Given the description of an element on the screen output the (x, y) to click on. 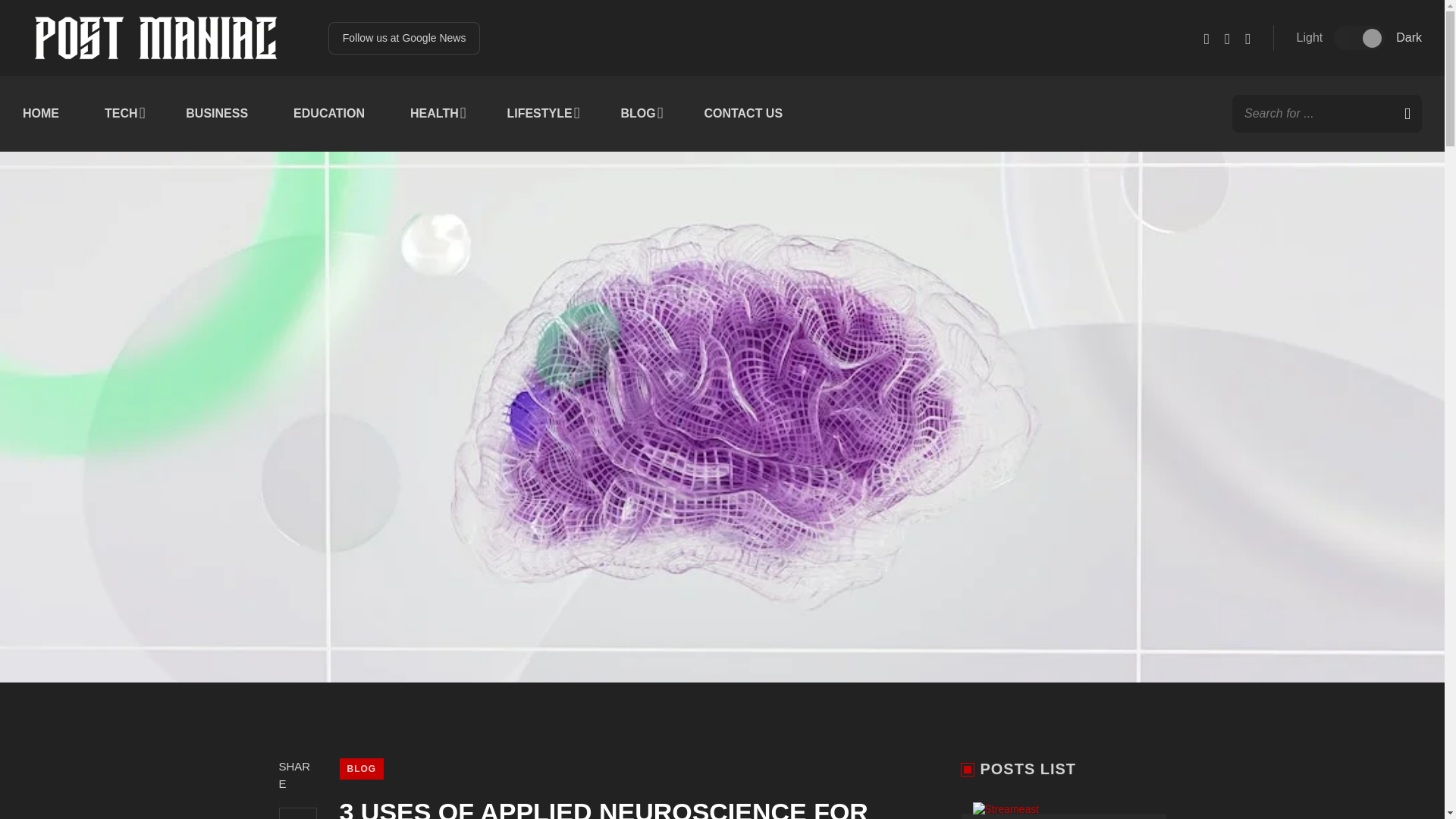
BLOG (361, 768)
EDUCATION (329, 113)
CONTACT US (743, 113)
LIFESTYLE (540, 113)
Follow us at Google News (404, 37)
Share on Facebook (298, 813)
